Given the description of an element on the screen output the (x, y) to click on. 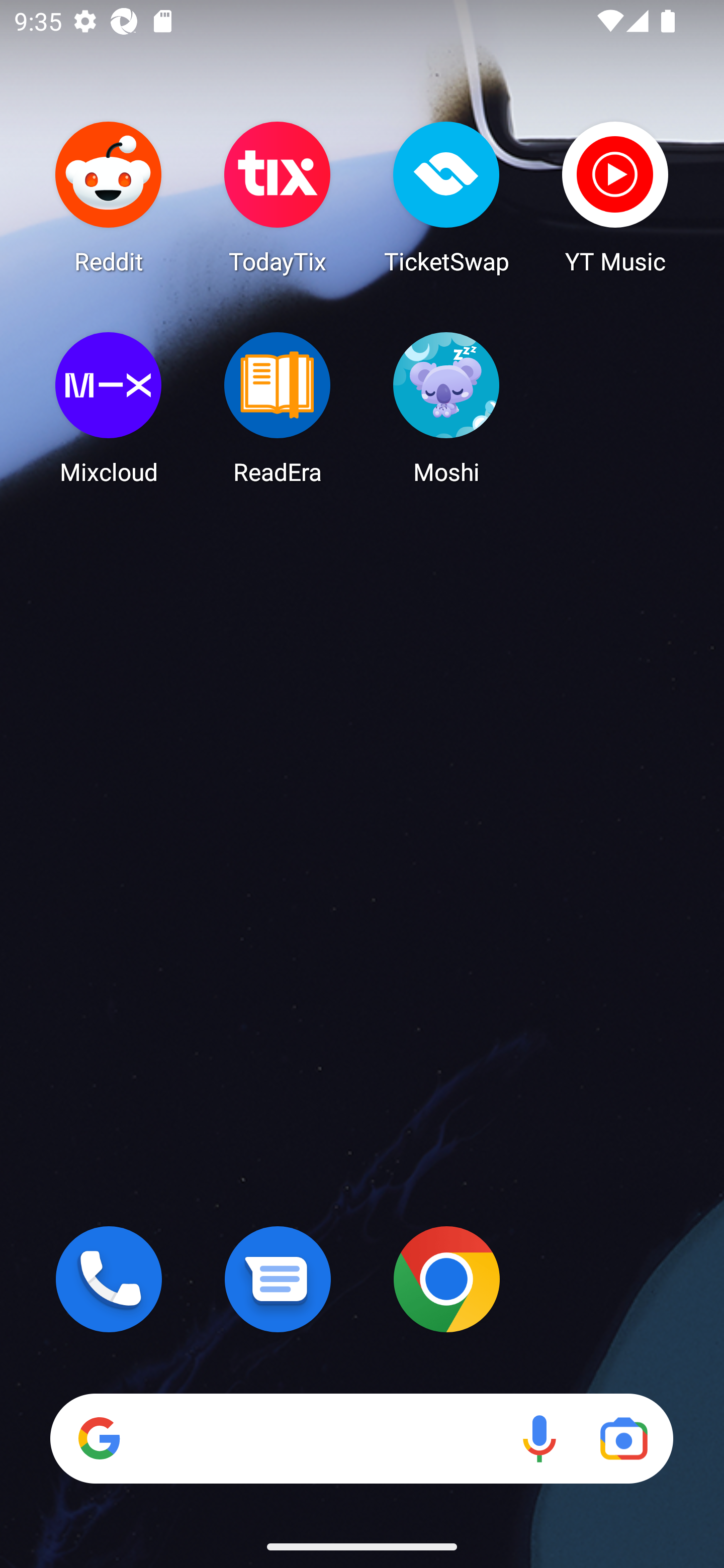
Reddit (108, 196)
TodayTix (277, 196)
TicketSwap (445, 196)
YT Music (615, 196)
Mixcloud (108, 407)
ReadEra (277, 407)
Moshi (445, 407)
Phone (108, 1279)
Messages (277, 1279)
Chrome (446, 1279)
Voice search (539, 1438)
Google Lens (623, 1438)
